Given the description of an element on the screen output the (x, y) to click on. 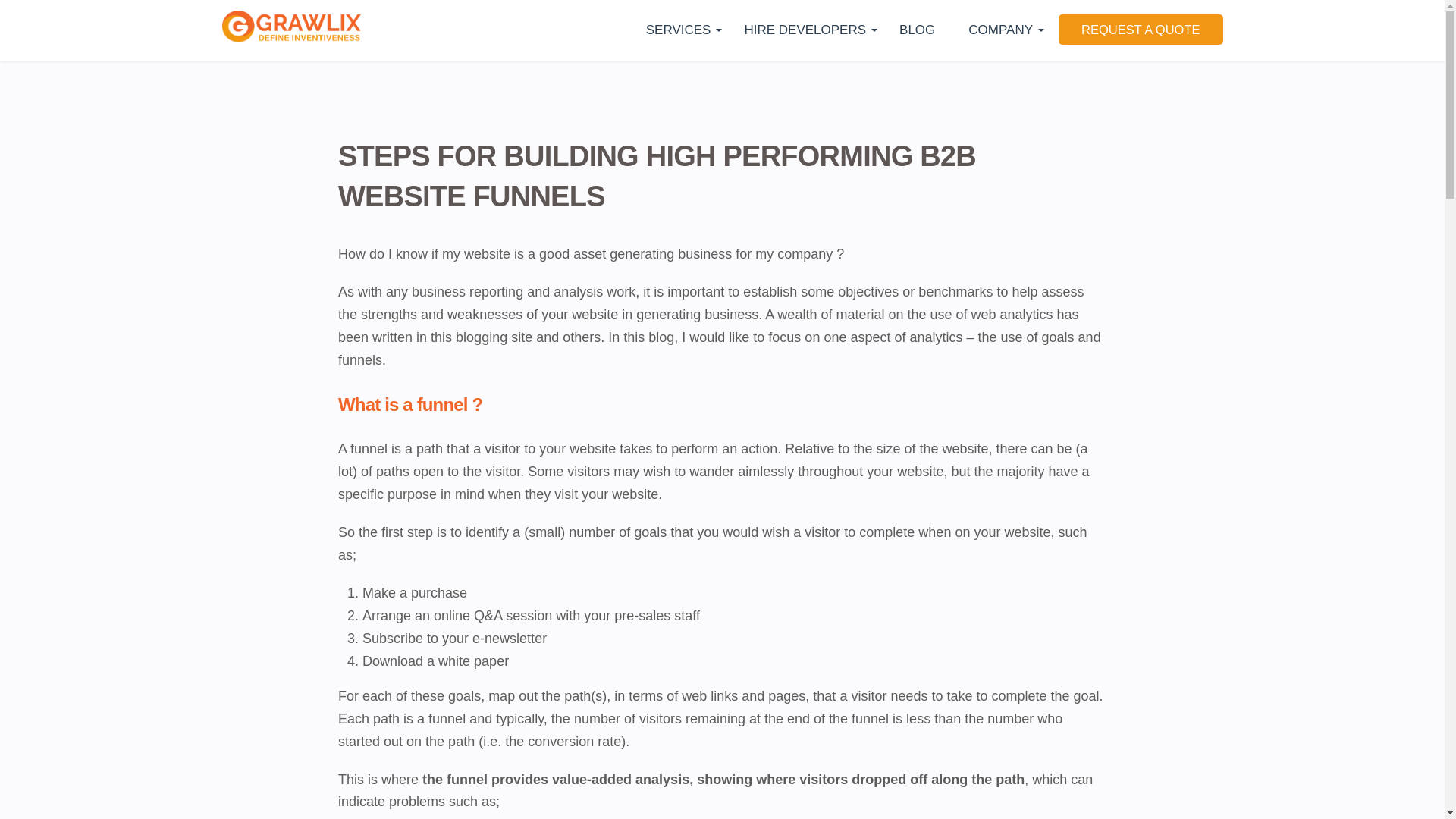
Grawlix (291, 30)
BLOG (917, 30)
REQUEST A QUOTE (1140, 29)
HIRE DEVELOPERS (804, 30)
SERVICES (678, 30)
COMPANY (999, 30)
